Given the description of an element on the screen output the (x, y) to click on. 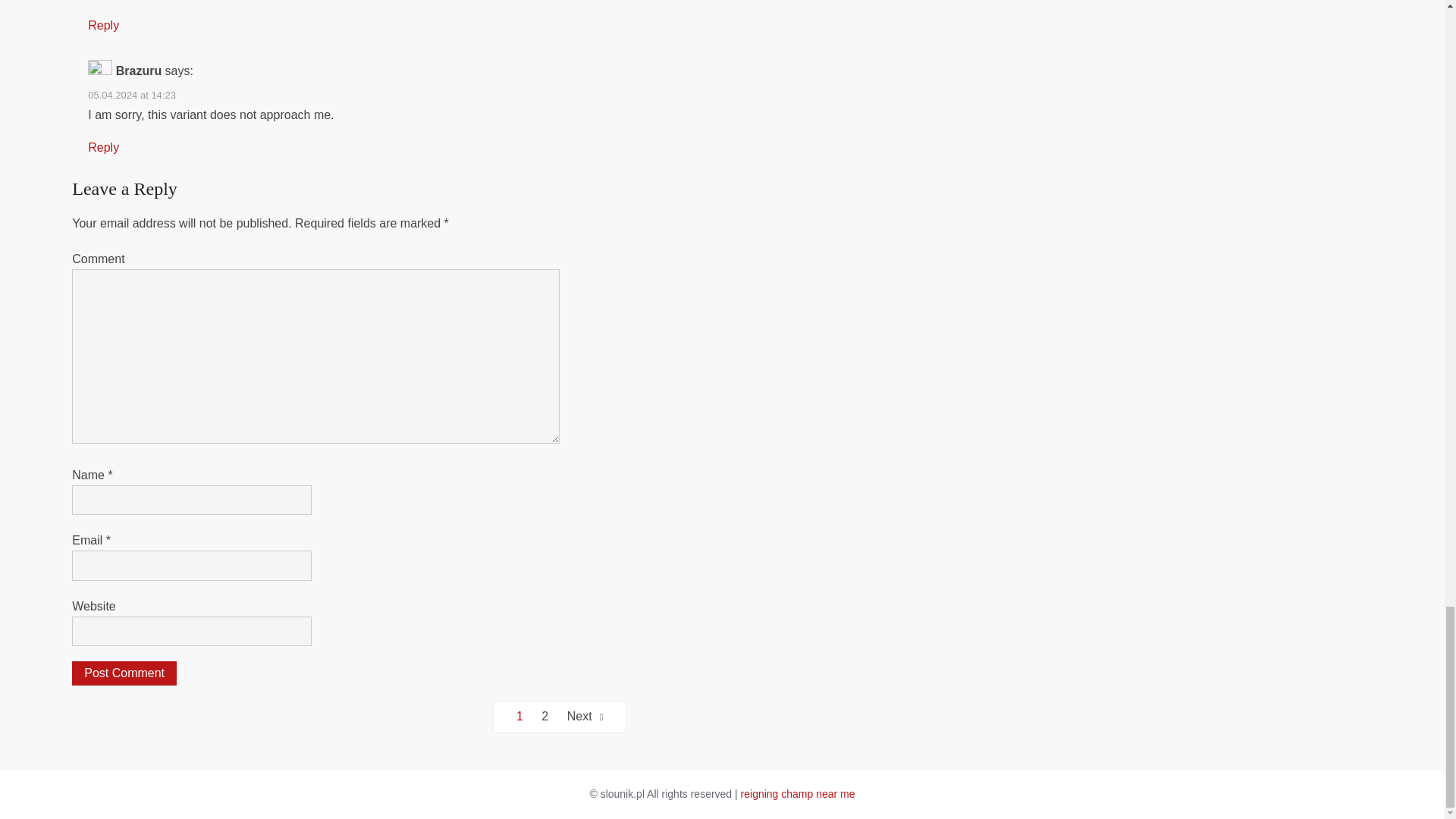
Reply (103, 146)
Post Comment (123, 672)
Next (585, 716)
2 (545, 716)
Post Comment (123, 672)
05.04.2024 at 14:23 (131, 94)
Reply (103, 24)
